Given the description of an element on the screen output the (x, y) to click on. 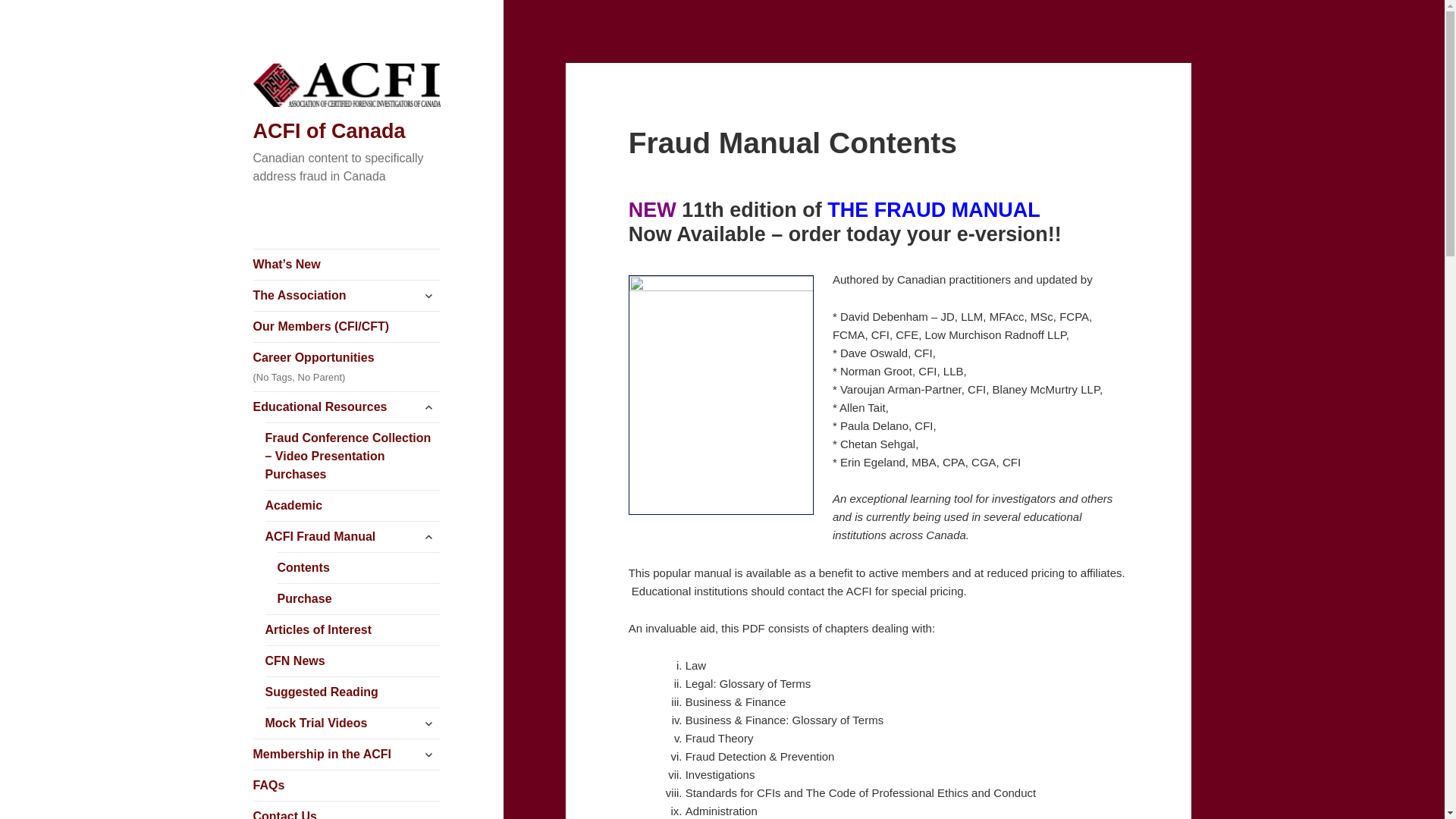
expand child menu Element type: text (428, 754)
Mock Trial Videos Element type: text (353, 723)
Membership in the ACFI Element type: text (347, 754)
ACFI Fraud Manual Element type: text (353, 536)
Academic Element type: text (353, 505)
ACFI of Canada Element type: text (329, 130)
Our Members (CFI/CFT) Element type: text (347, 326)
Articles of Interest Element type: text (353, 630)
Career Opportunities
(No Tags, No Parent) Element type: text (347, 366)
FAQs Element type: text (347, 785)
Contents Element type: text (359, 567)
CFN News Element type: text (353, 661)
Educational Resources Element type: text (347, 407)
expand child menu Element type: text (428, 295)
Suggested Reading Element type: text (353, 692)
expand child menu Element type: text (428, 723)
expand child menu Element type: text (428, 407)
The Association Element type: text (347, 295)
expand child menu Element type: text (428, 536)
Purchase Element type: text (359, 598)
